Given the description of an element on the screen output the (x, y) to click on. 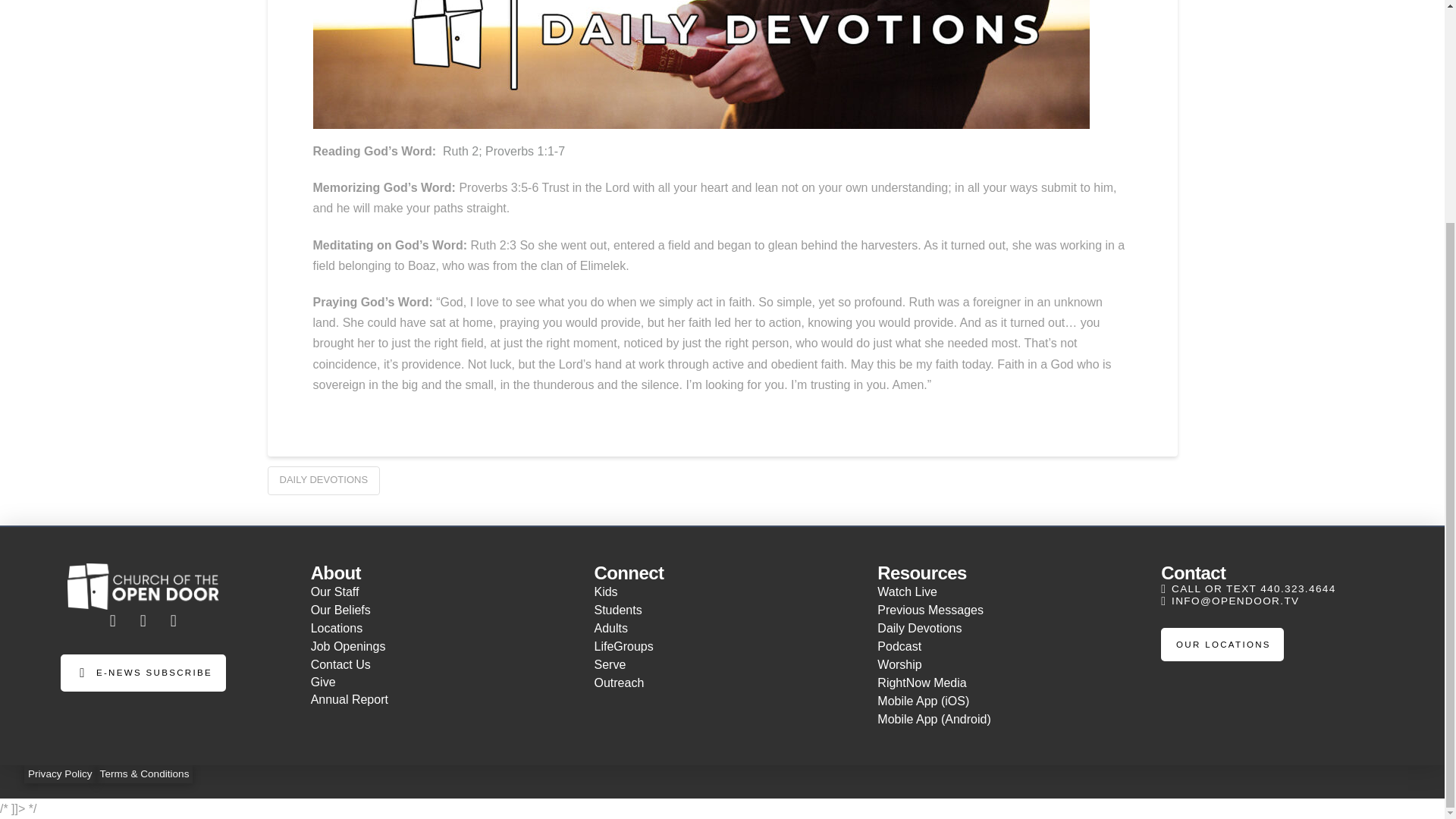
Annual Report (440, 699)
DAILY DEVOTIONS (323, 480)
Contact Us (440, 665)
Our Staff (440, 592)
Our Beliefs (440, 610)
Adults (723, 628)
Give (440, 682)
Ruth 2; Proverbs 1:1-7 (503, 151)
Students (723, 610)
Locations (440, 628)
